Given the description of an element on the screen output the (x, y) to click on. 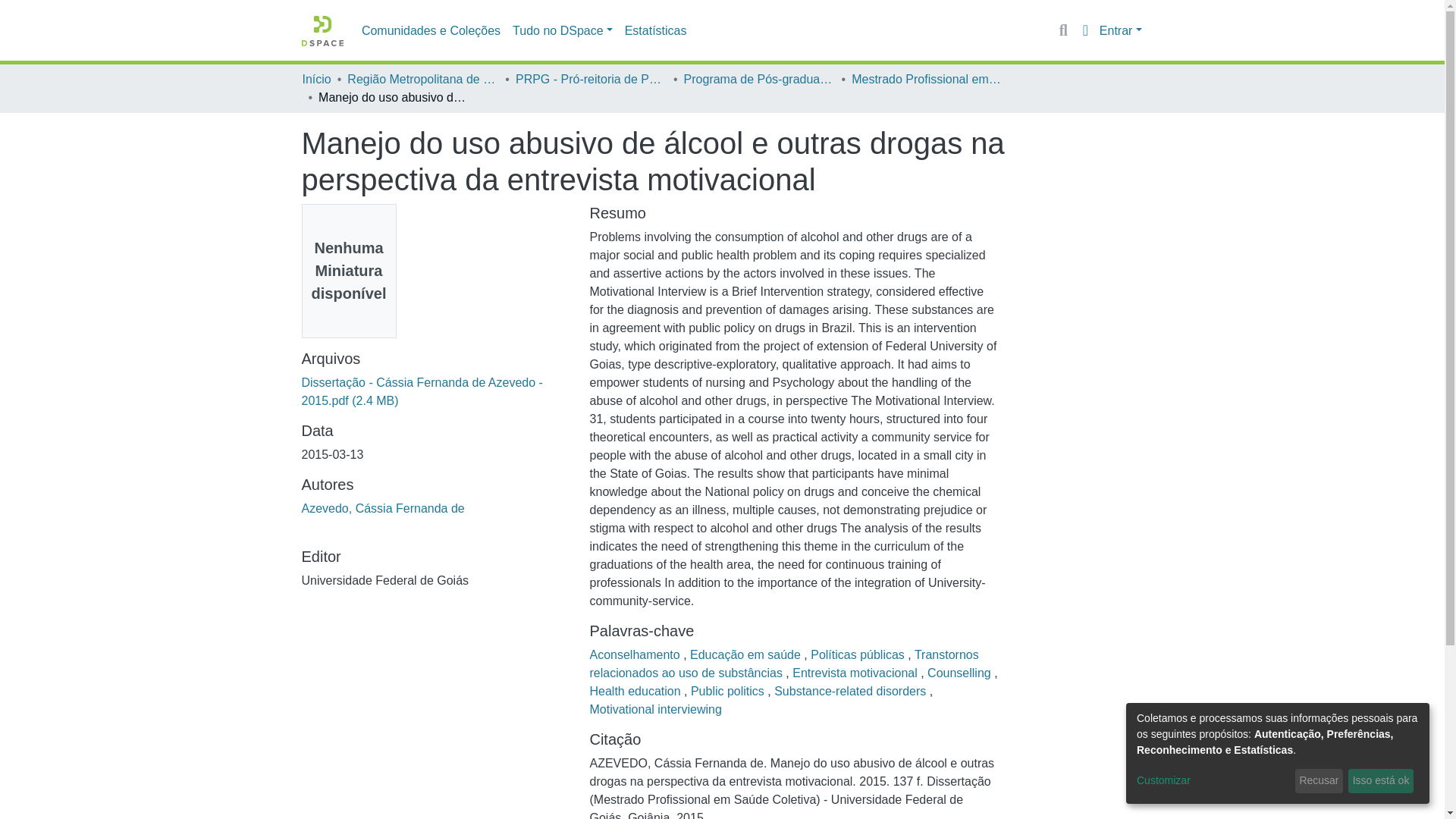
Entrar (1119, 30)
Counselling (960, 672)
Tudo no DSpace (562, 30)
Aconselhamento (635, 654)
Motivational interviewing (654, 708)
Health education (636, 690)
Entrevista motivacional (856, 672)
Buscar (1063, 30)
Substance-related disorders (852, 690)
Selecionar um idioma (1084, 30)
